Given the description of an element on the screen output the (x, y) to click on. 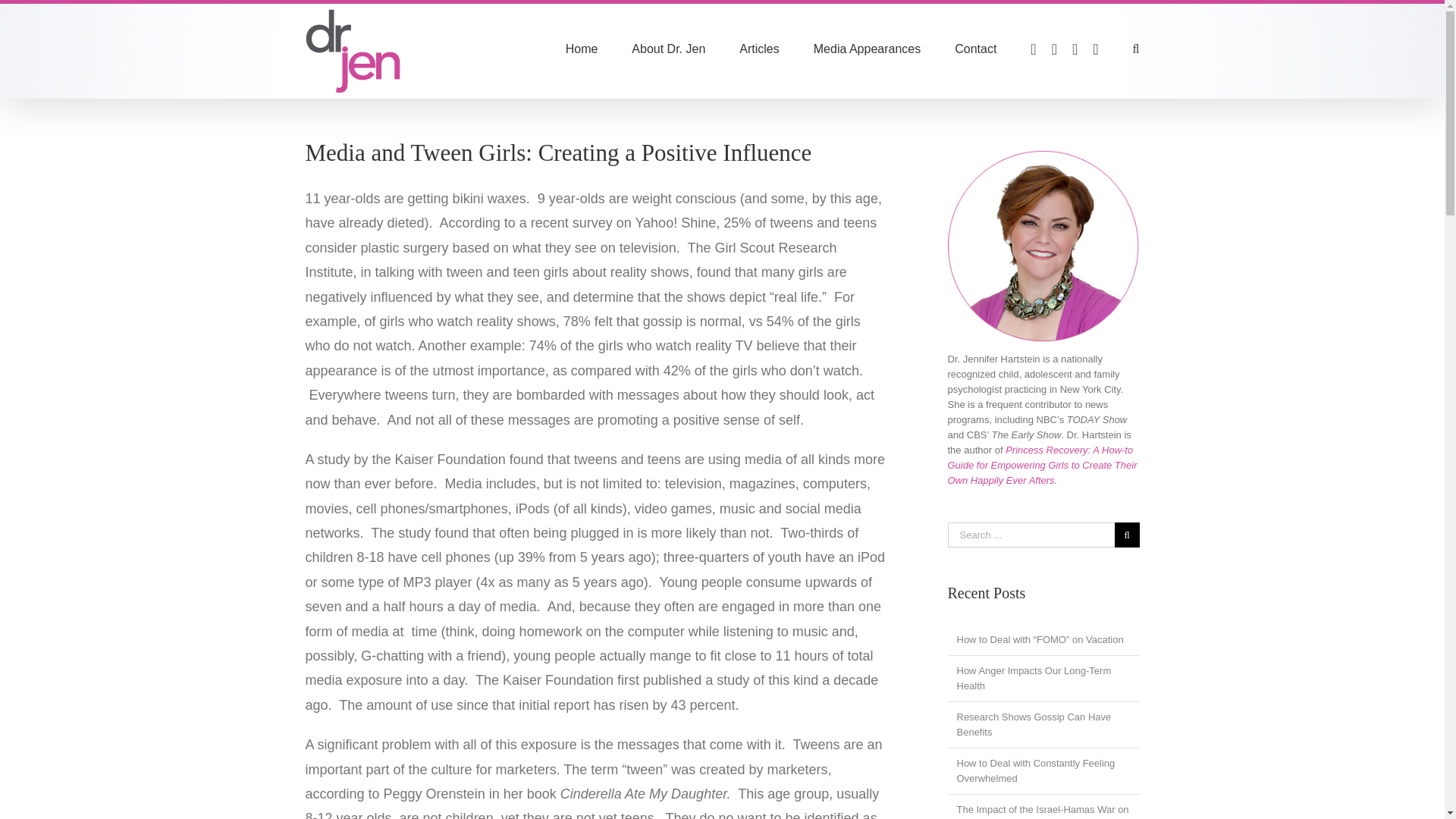
Media Appearances (866, 49)
